Given the description of an element on the screen output the (x, y) to click on. 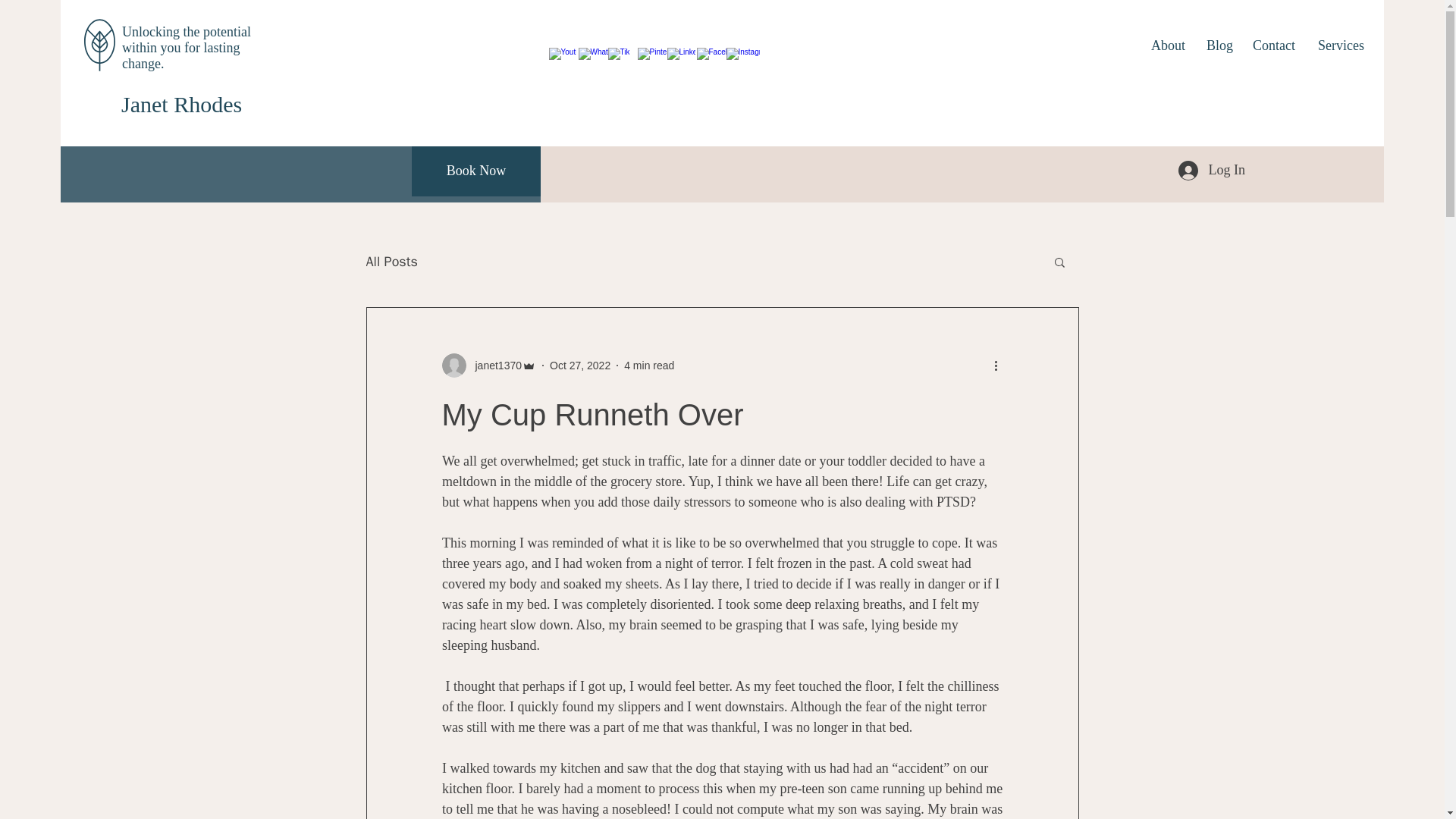
Janet Rhodes (180, 104)
Services (1340, 45)
All Posts (390, 261)
4 min read (649, 365)
janet1370 (493, 365)
Contact (1273, 45)
Log In (1211, 170)
Book Now (476, 171)
Unlocking the potential within you for lasting change. (186, 47)
About (1167, 45)
